Given the description of an element on the screen output the (x, y) to click on. 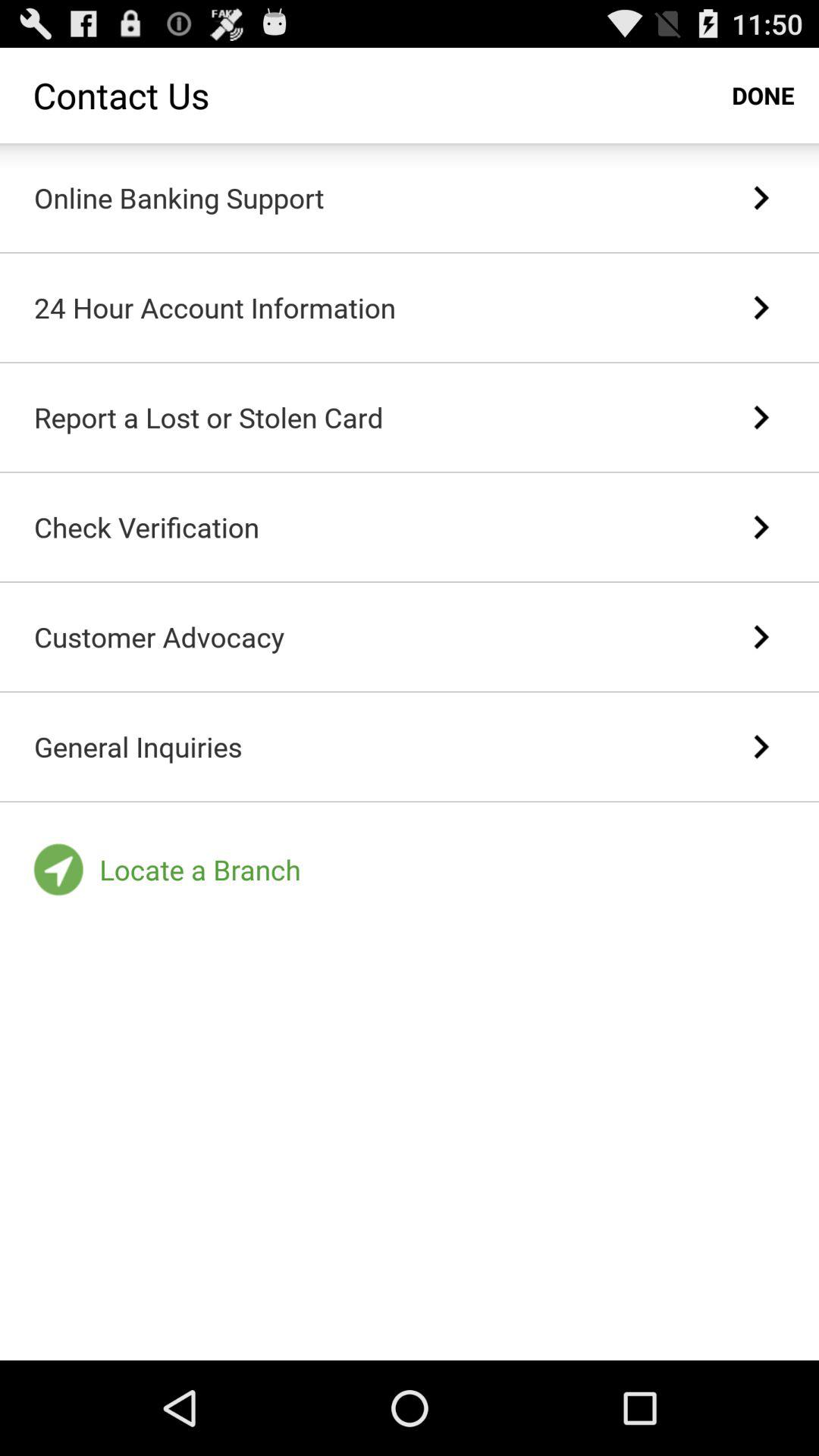
jump until the online banking support (179, 197)
